Given the description of an element on the screen output the (x, y) to click on. 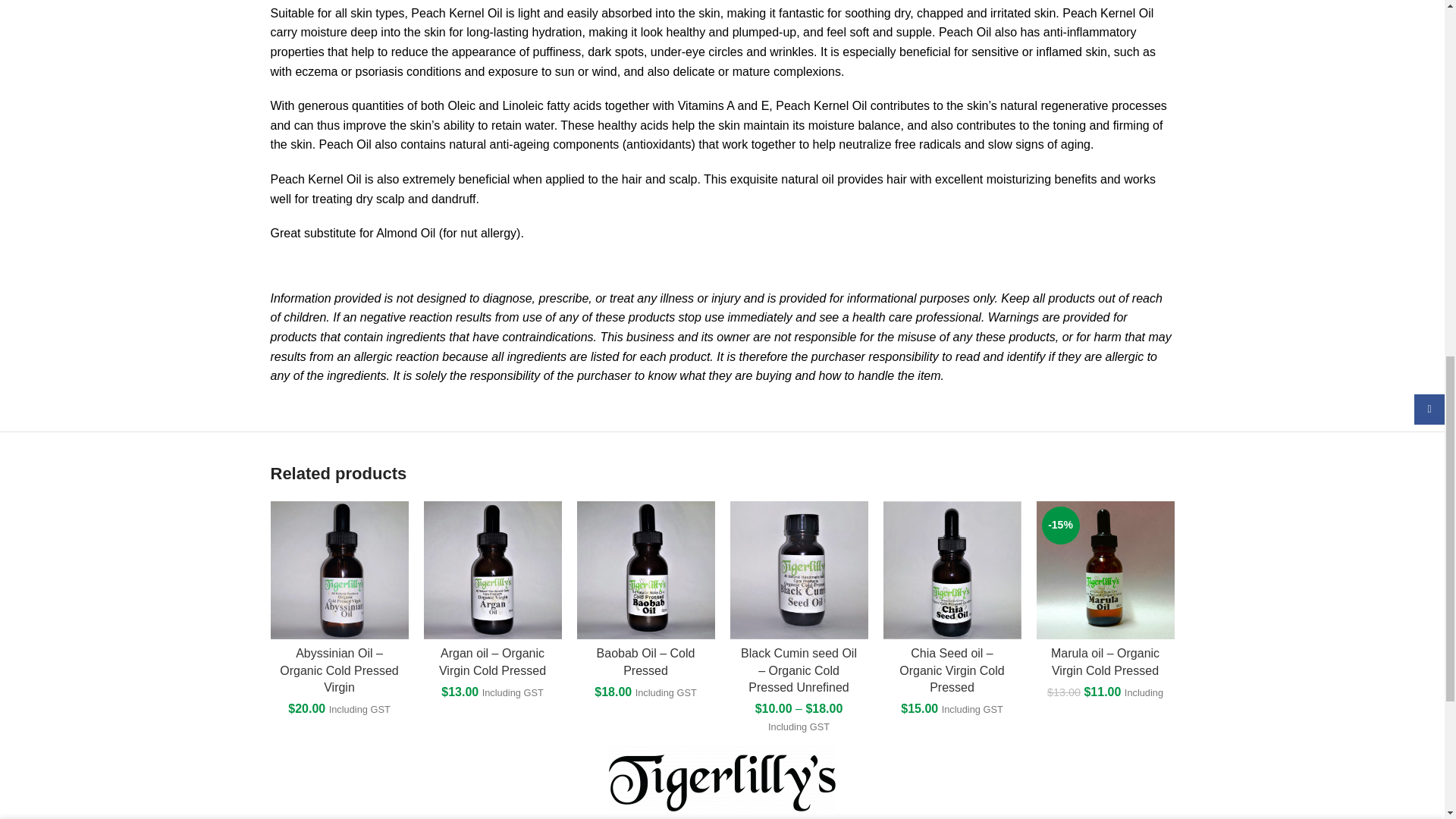
Asset 9 (721, 779)
